Given the description of an element on the screen output the (x, y) to click on. 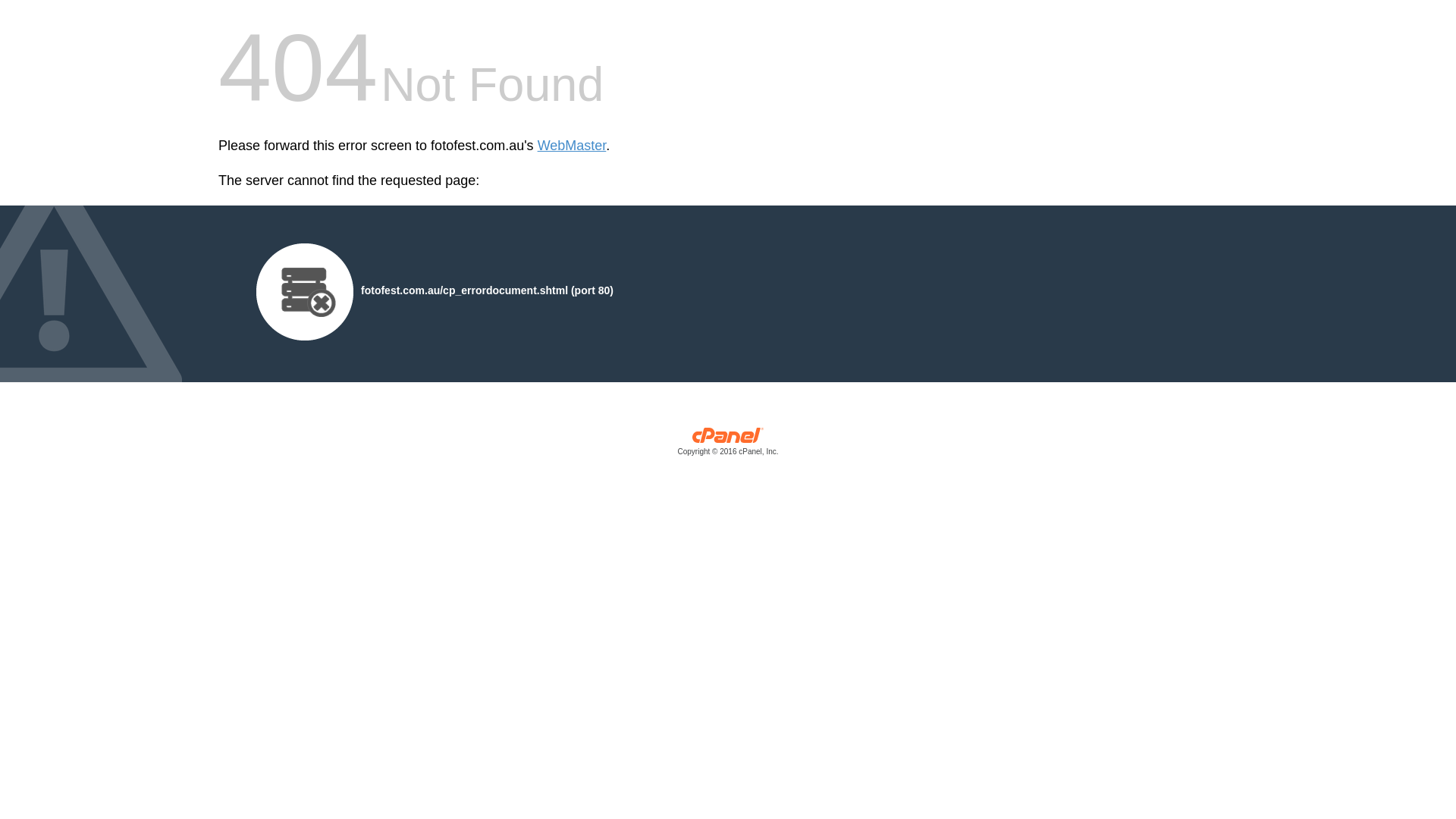
WebMaster Element type: text (571, 145)
